Given the description of an element on the screen output the (x, y) to click on. 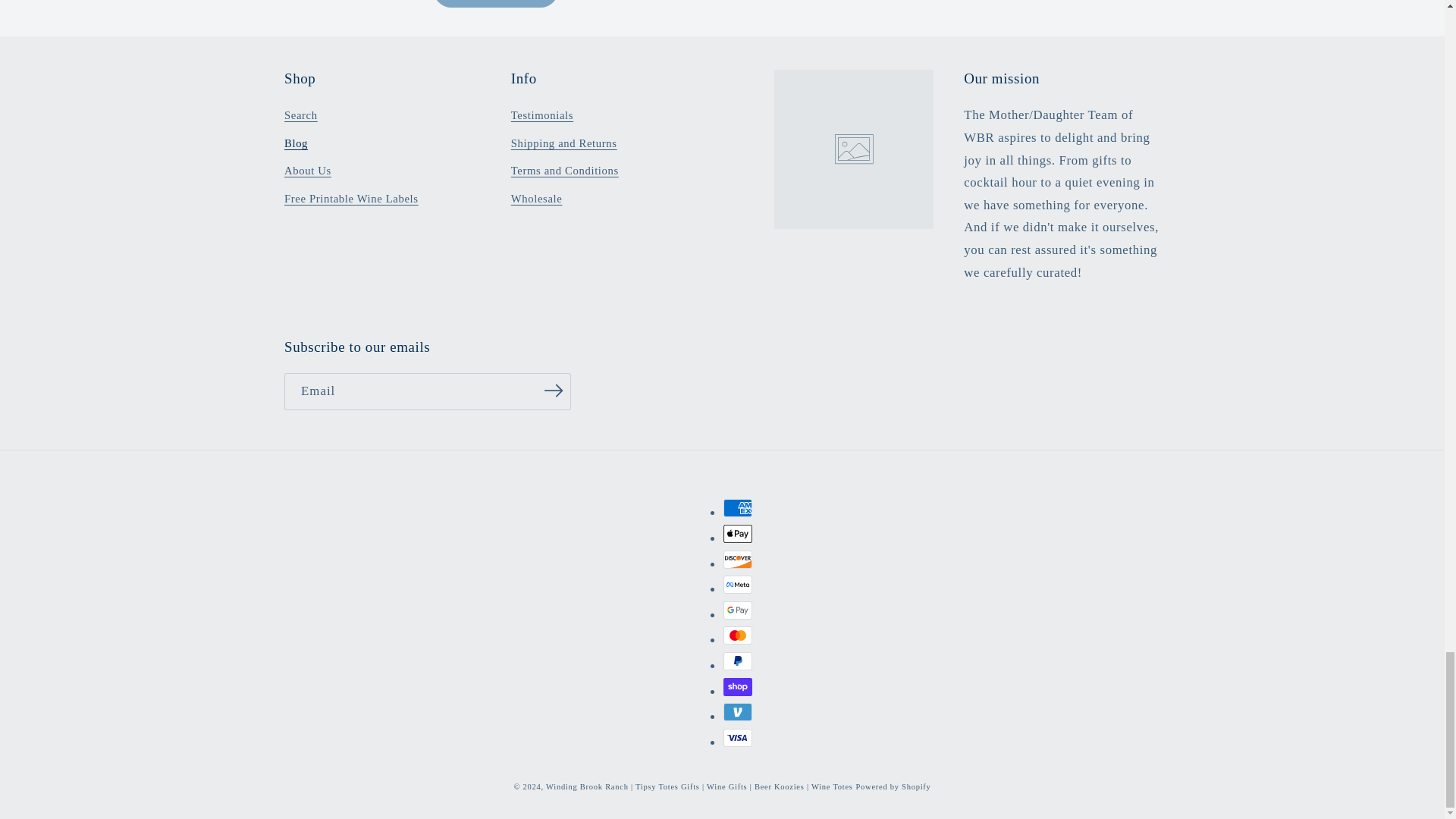
American Express (737, 507)
Visa (737, 737)
Post comment (494, 3)
PayPal (737, 660)
Shop Pay (737, 687)
Apple Pay (737, 533)
Discover (737, 559)
Venmo (737, 711)
Mastercard (737, 635)
Meta Pay (737, 584)
Google Pay (737, 610)
